Given the description of an element on the screen output the (x, y) to click on. 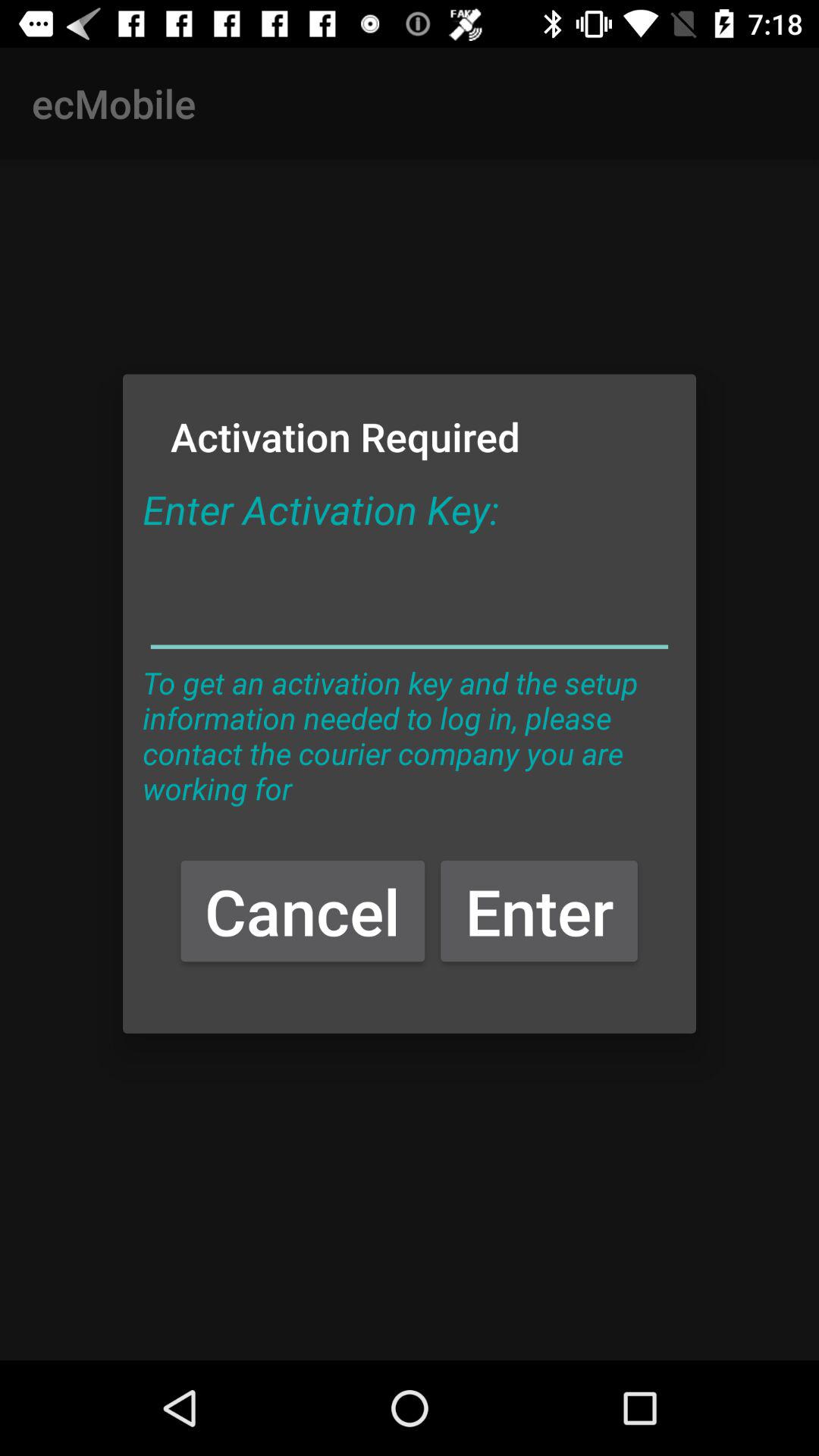
click button to the left of enter icon (302, 910)
